Given the description of an element on the screen output the (x, y) to click on. 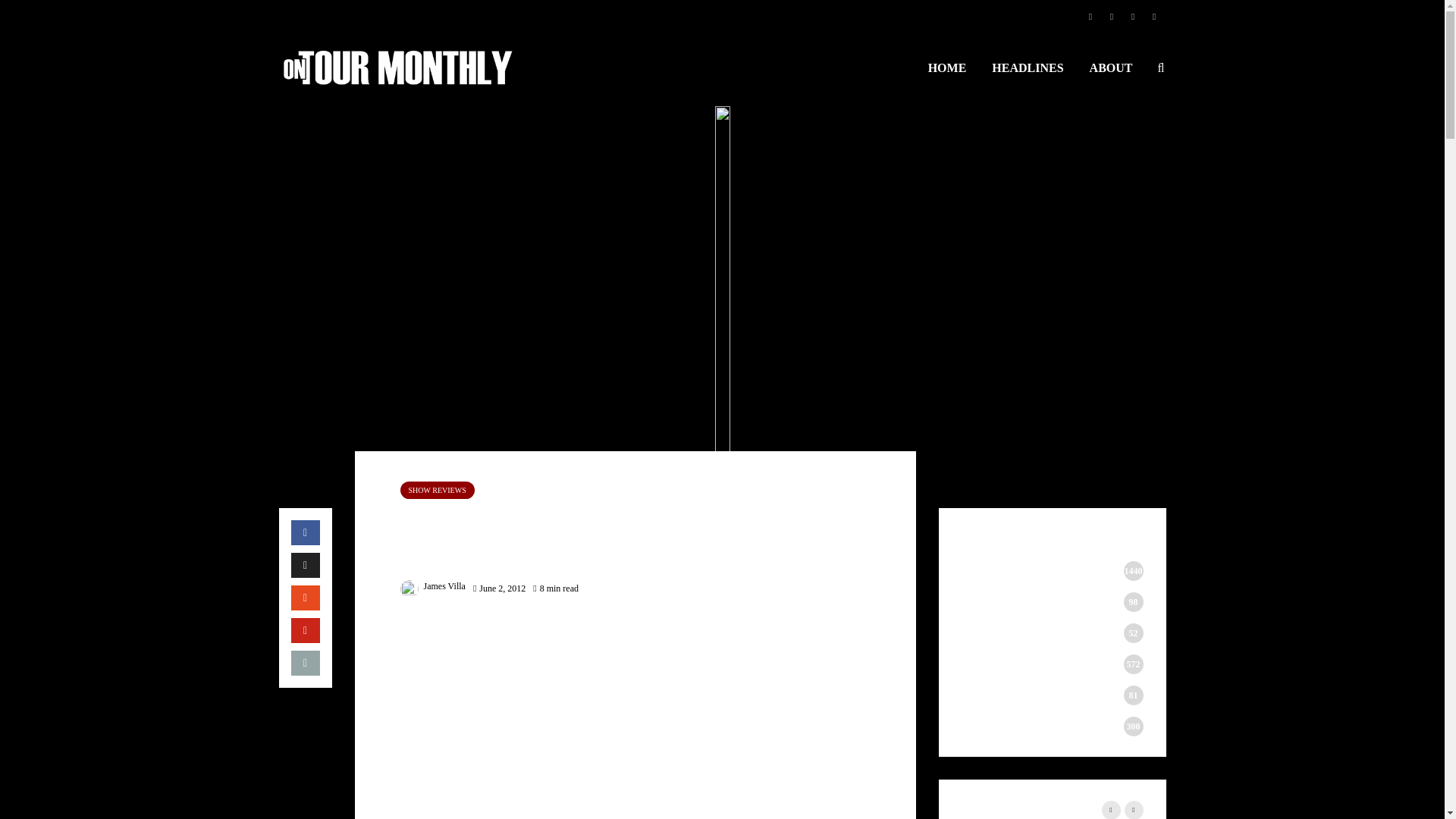
HOME (947, 68)
Headlines (1026, 68)
About (1111, 68)
ABOUT (1111, 68)
SHOW REVIEWS (437, 489)
James Villa (432, 585)
HEADLINES (1026, 68)
